Given the description of an element on the screen output the (x, y) to click on. 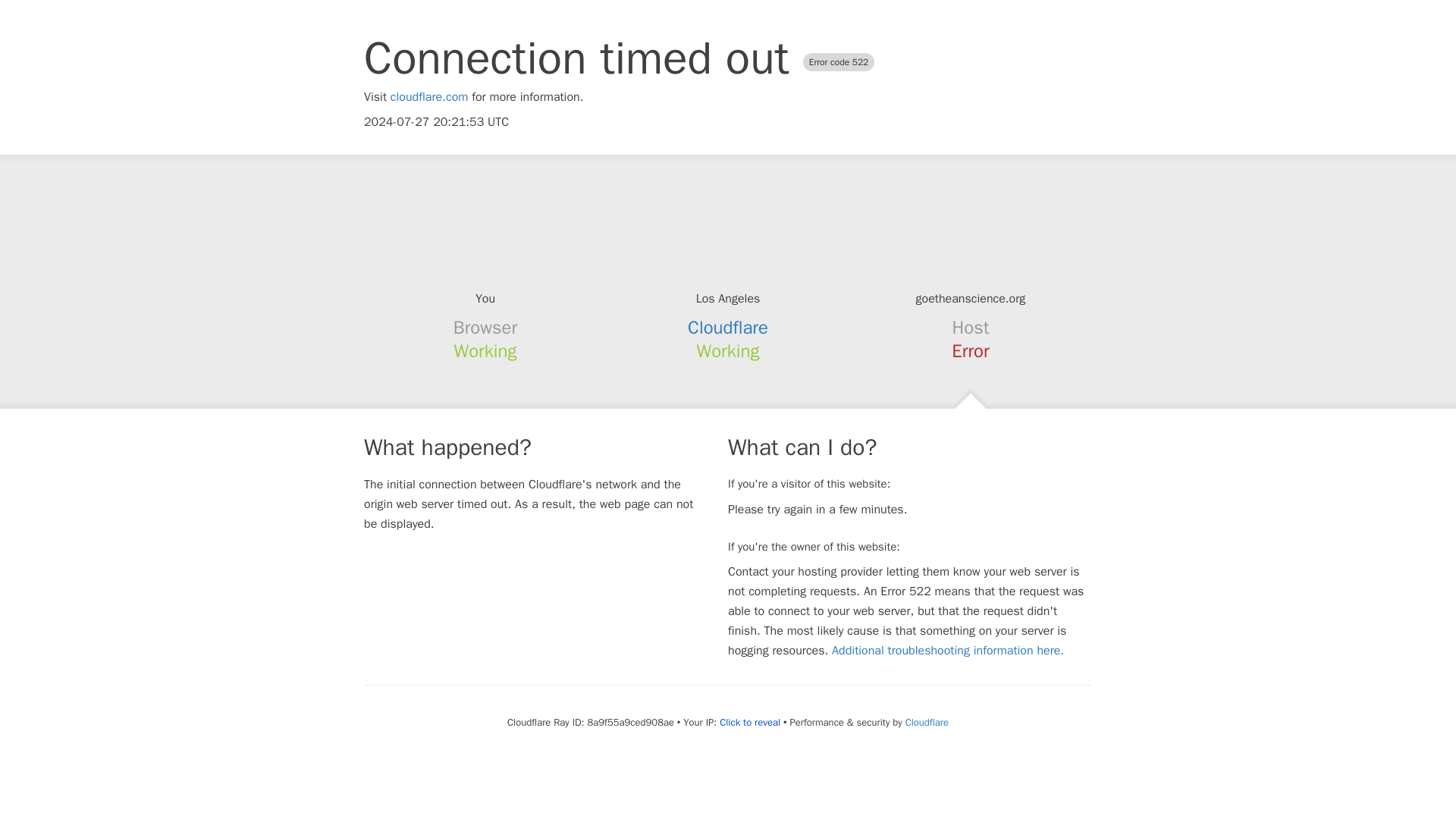
Click to reveal (749, 722)
Cloudflare (727, 327)
cloudflare.com (429, 96)
Additional troubleshooting information here. (947, 650)
Cloudflare (927, 721)
